Given the description of an element on the screen output the (x, y) to click on. 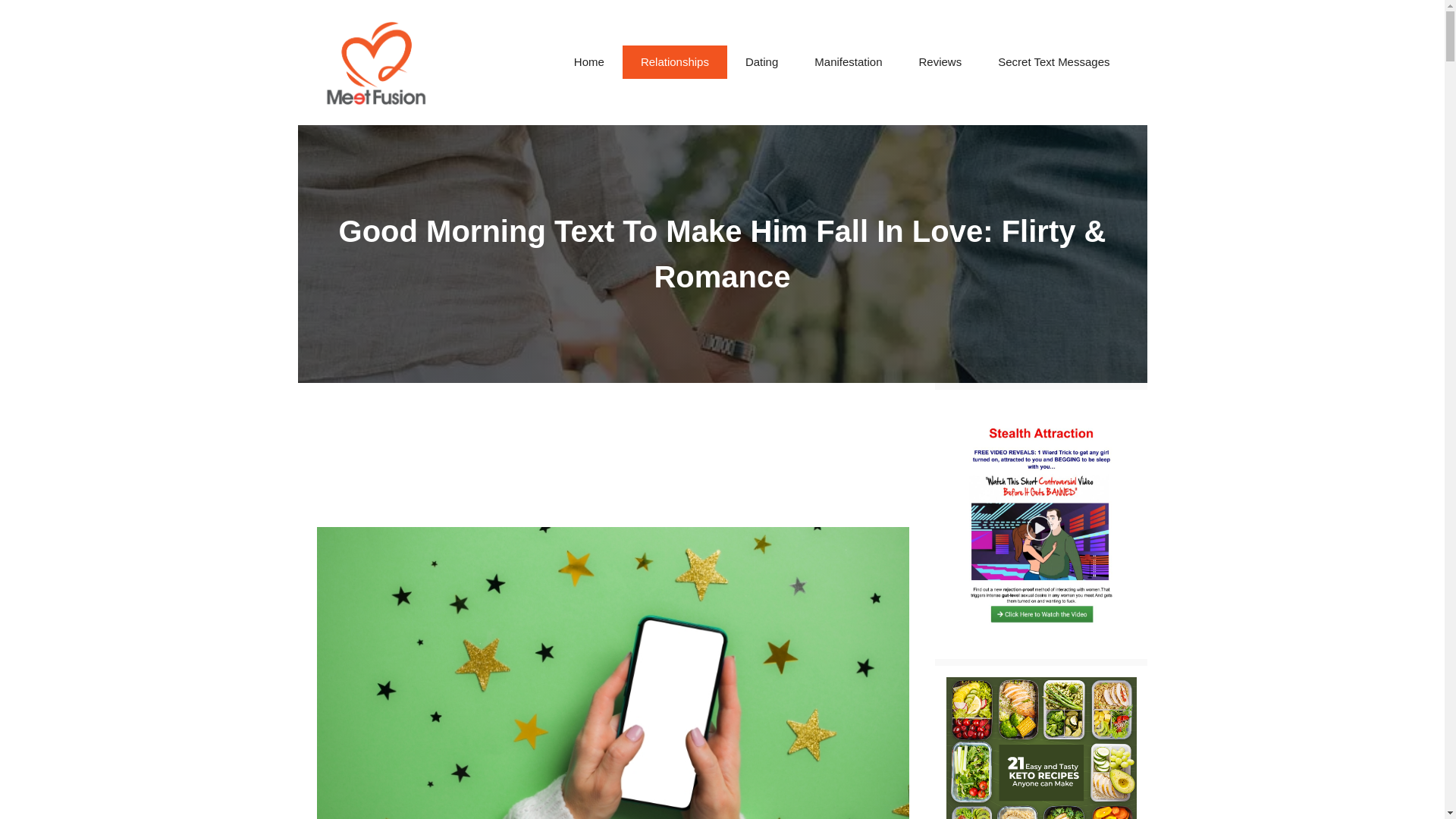
Secret Text Messages (1052, 61)
Dating (761, 61)
Advertisement (612, 448)
Reviews (940, 61)
Manifestation (847, 61)
Meet Fusion (377, 62)
Home (589, 61)
Relationships (674, 61)
